Given the description of an element on the screen output the (x, y) to click on. 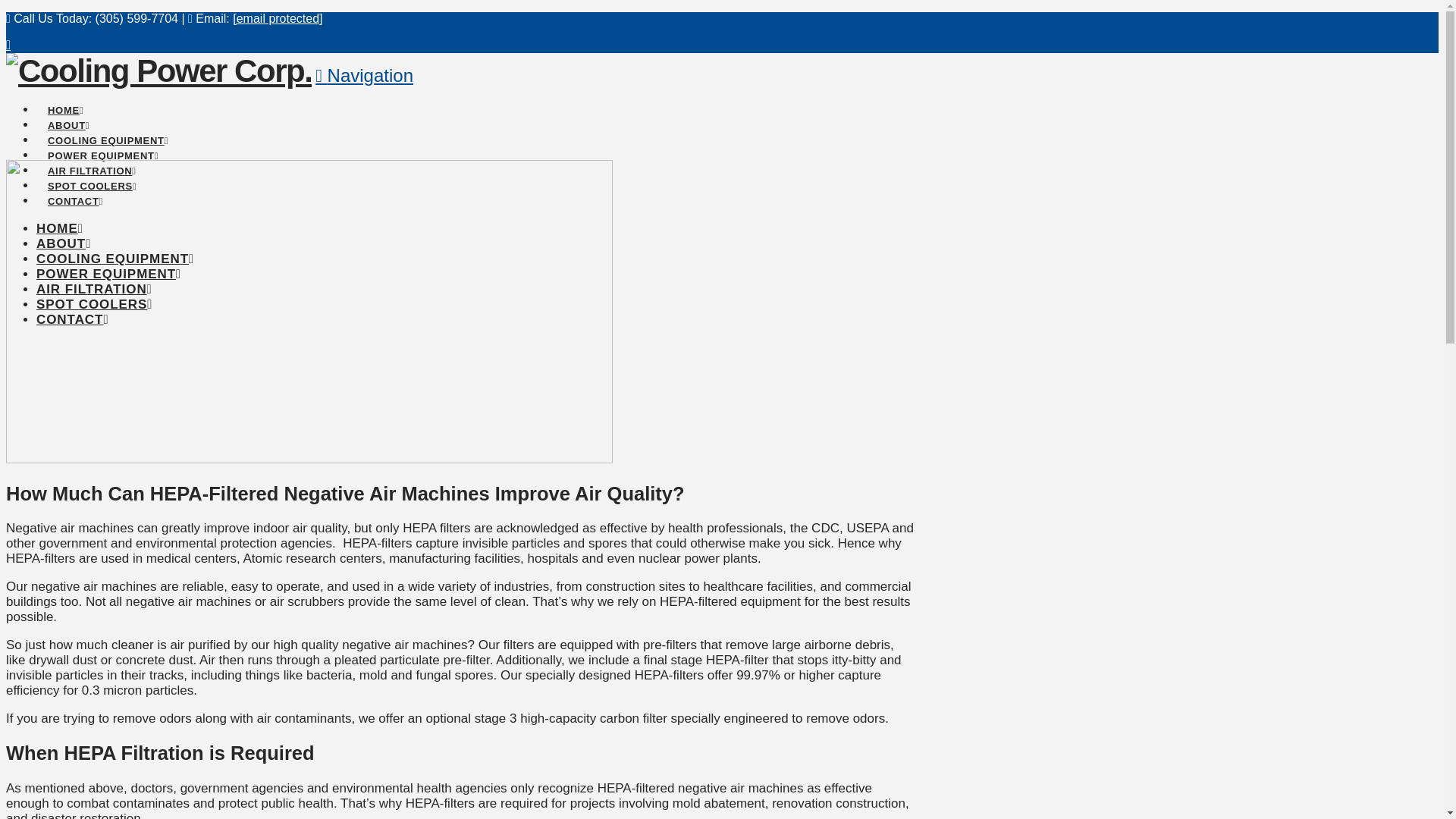
HOME (59, 228)
CONTACT (74, 179)
CONTACT (72, 319)
SPOT COOLERS (92, 164)
POWER EQUIPMENT (103, 134)
Navigation (364, 75)
AIR FILTRATION (94, 288)
POWER EQUIPMENT (108, 273)
AIR FILTRATION (91, 149)
COOLING EQUIPMENT (107, 118)
